Given the description of an element on the screen output the (x, y) to click on. 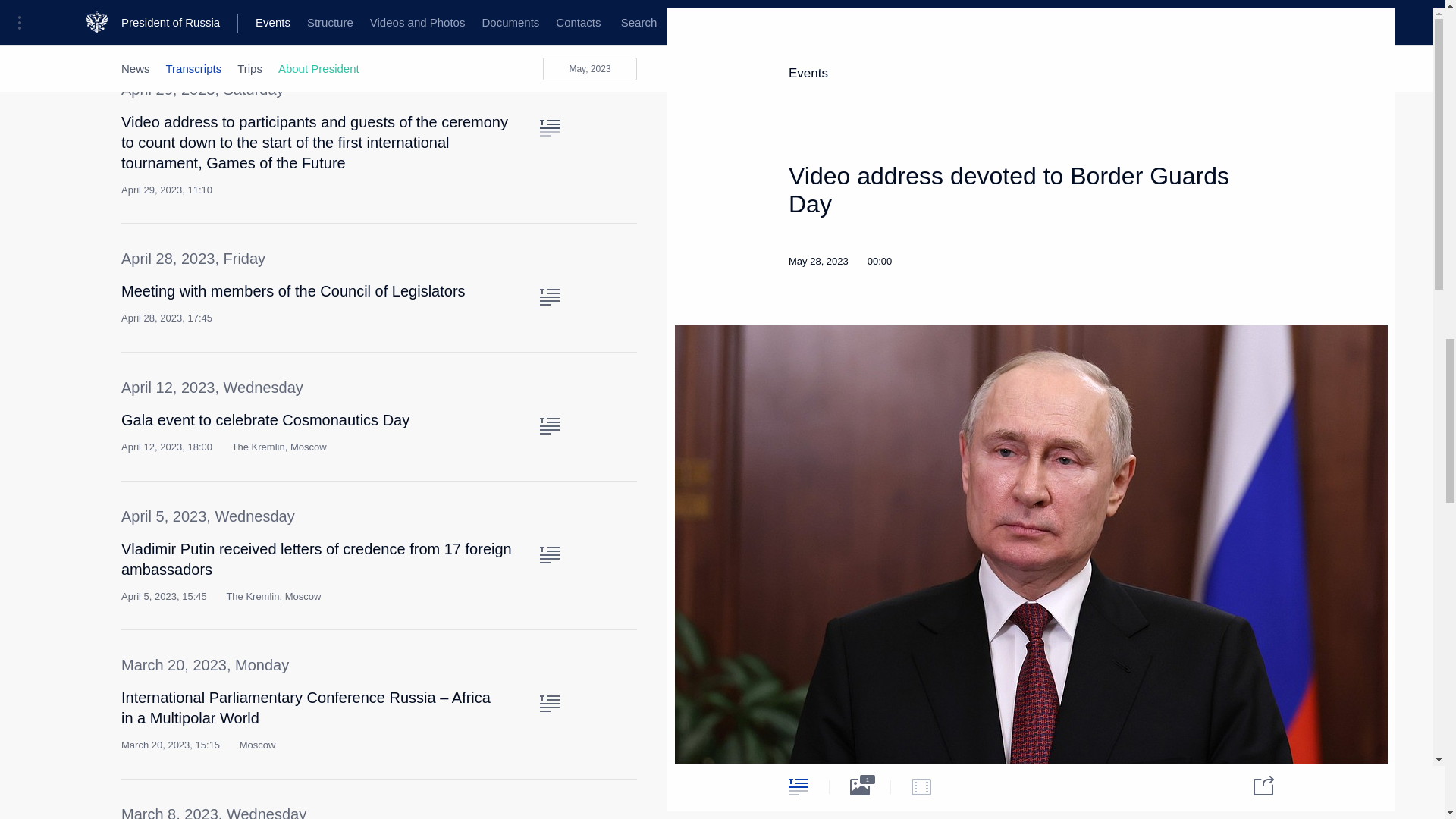
Text of the article (549, 297)
Text of the article (549, 3)
Text of the article (549, 425)
Text of the article (549, 127)
Text of the article (549, 703)
Text of the article (549, 555)
